Given the description of an element on the screen output the (x, y) to click on. 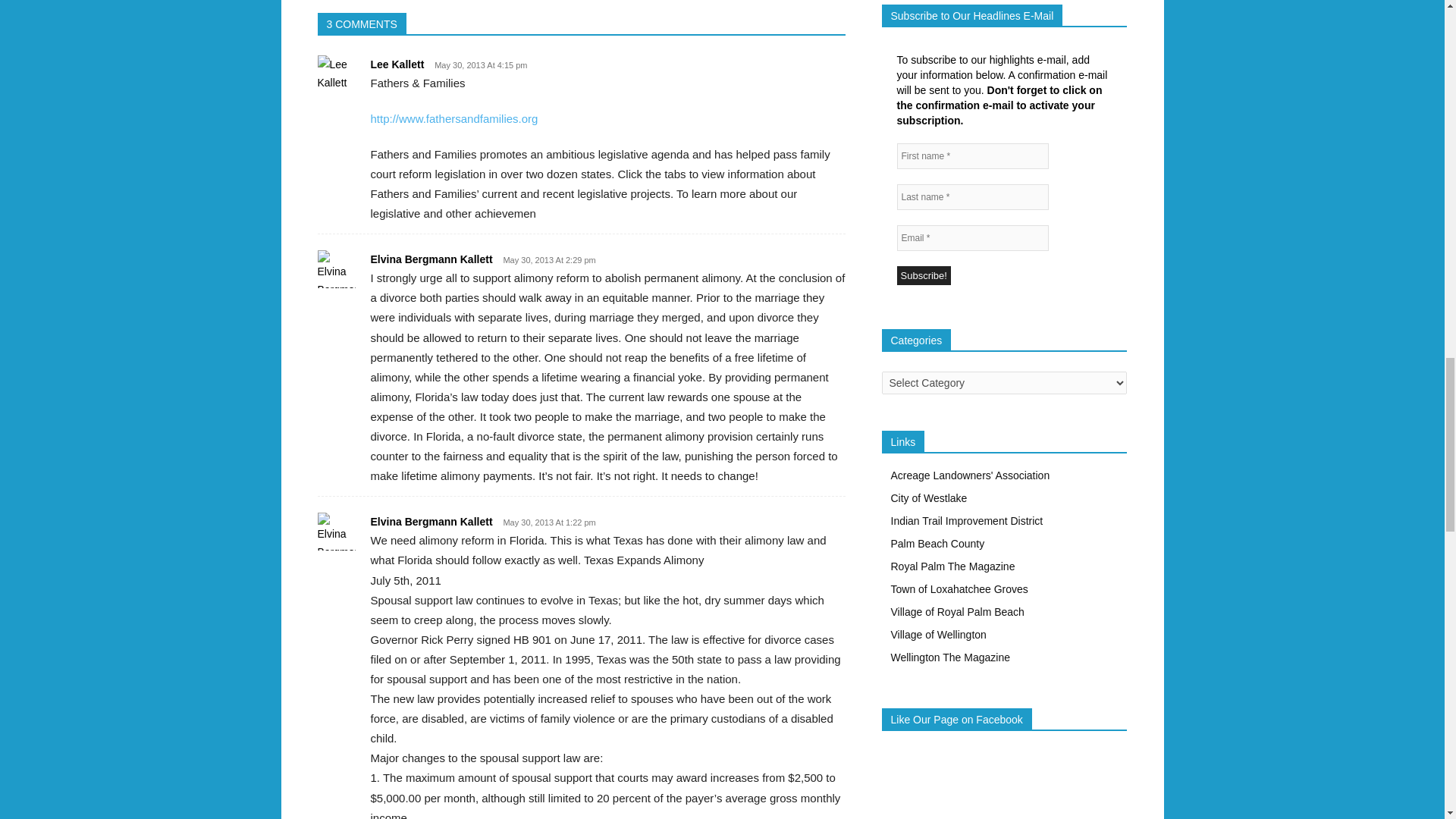
Subscribe! (923, 275)
